Given the description of an element on the screen output the (x, y) to click on. 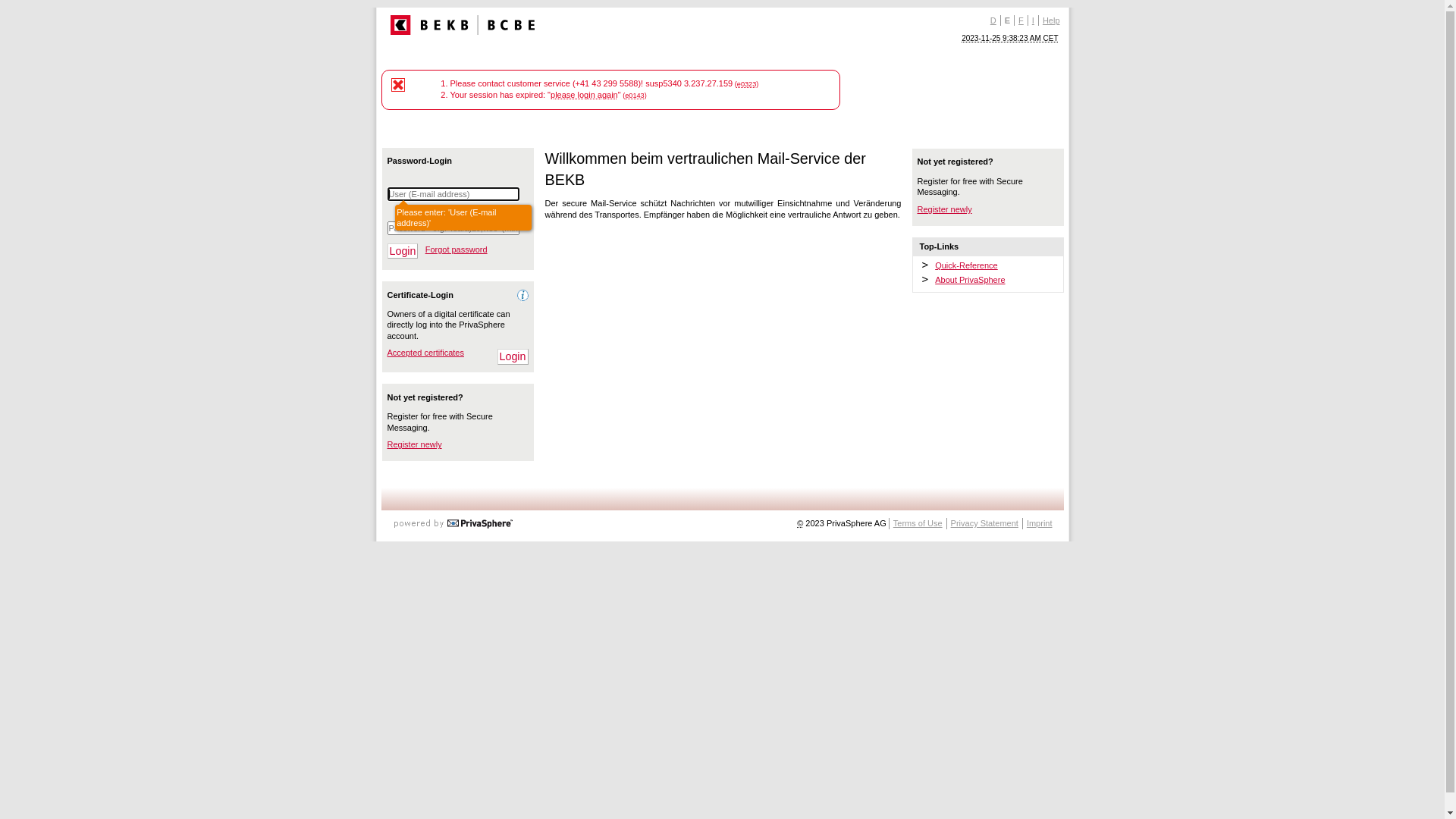
Imprint Element type: text (1039, 522)
I Element type: text (1032, 20)
Register newly Element type: text (944, 208)
by Client Certificate Element type: hover (512, 356)
Terms of Use Element type: text (917, 522)
Help Element type: text (1050, 20)
Certificate-Login Element type: text (419, 294)
Login Element type: text (401, 251)
Privacy Statement Element type: text (984, 522)
Login Element type: text (512, 356)
Quick-Reference Element type: text (966, 264)
Accepted certificates Element type: text (425, 352)
Authenticate Element type: hover (401, 251)
About PrivaSphere Element type: text (969, 279)
BEKB (in a new Window) Element type: hover (461, 31)
D Element type: text (993, 20)
Your e-mail address! Element type: hover (452, 193)
F Element type: text (1020, 20)
Forgot password Element type: text (456, 249)
Developed + powered by PrivaSphere (in a new Window) Element type: hover (453, 520)
Register newly Element type: text (413, 443)
BEKB (in a new Window) Element type: hover (461, 24)
Error List Element type: hover (397, 84)
